Given the description of an element on the screen output the (x, y) to click on. 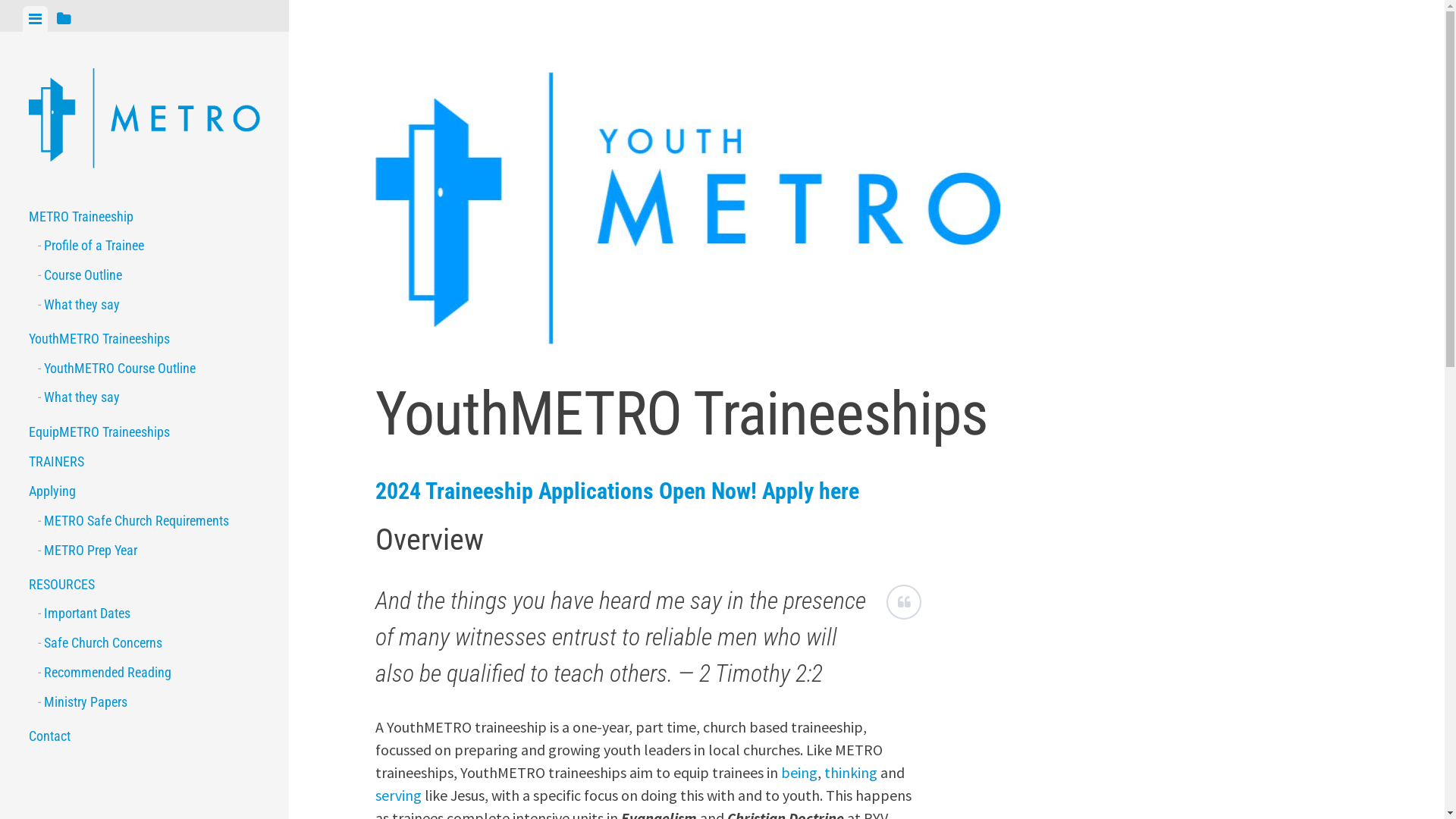
Recommended Reading Element type: text (148, 672)
What they say Element type: text (148, 304)
2024 Traineeship Applications Open Now! Apply here Element type: text (617, 490)
Ministry Papers Element type: text (148, 701)
YouthMETRO Course Outline Element type: text (148, 367)
RESOURCES Element type: text (144, 583)
Profile of a Trainee Element type: text (148, 245)
METRO Traineeship Element type: text (144, 215)
YouthMETRO Traineeships Element type: text (144, 338)
serving Element type: text (398, 794)
Safe Church Concerns Element type: text (148, 642)
Course Outline Element type: text (148, 274)
What they say Element type: text (148, 397)
Applying Element type: text (144, 490)
Contact Element type: text (144, 734)
METRO Safe Church Requirements Element type: text (148, 520)
Important Dates Element type: text (148, 613)
thinking Element type: text (850, 771)
METRO Prep Year Element type: text (148, 549)
being Element type: text (799, 771)
EquipMETRO Traineeships Element type: text (144, 430)
TRAINERS Element type: text (144, 461)
YouthMETRO Traineeships Element type: hover (754, 211)
View sidebar Element type: text (63, 18)
View menu Element type: text (34, 18)
